Given the description of an element on the screen output the (x, y) to click on. 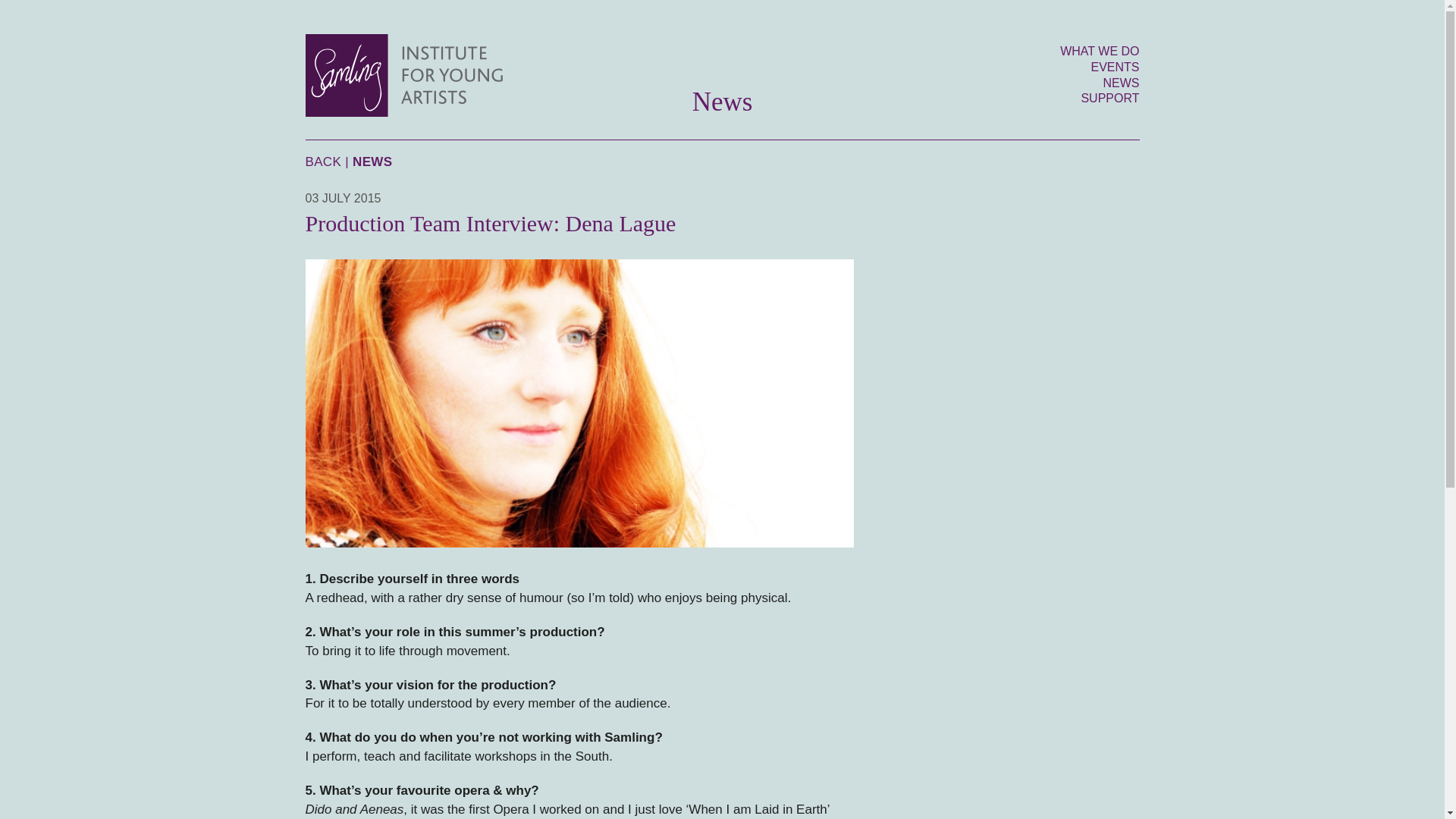
SUPPORT (1109, 97)
NEWS (1120, 82)
WHAT WE DO (1098, 51)
EVENTS (1114, 66)
